Given the description of an element on the screen output the (x, y) to click on. 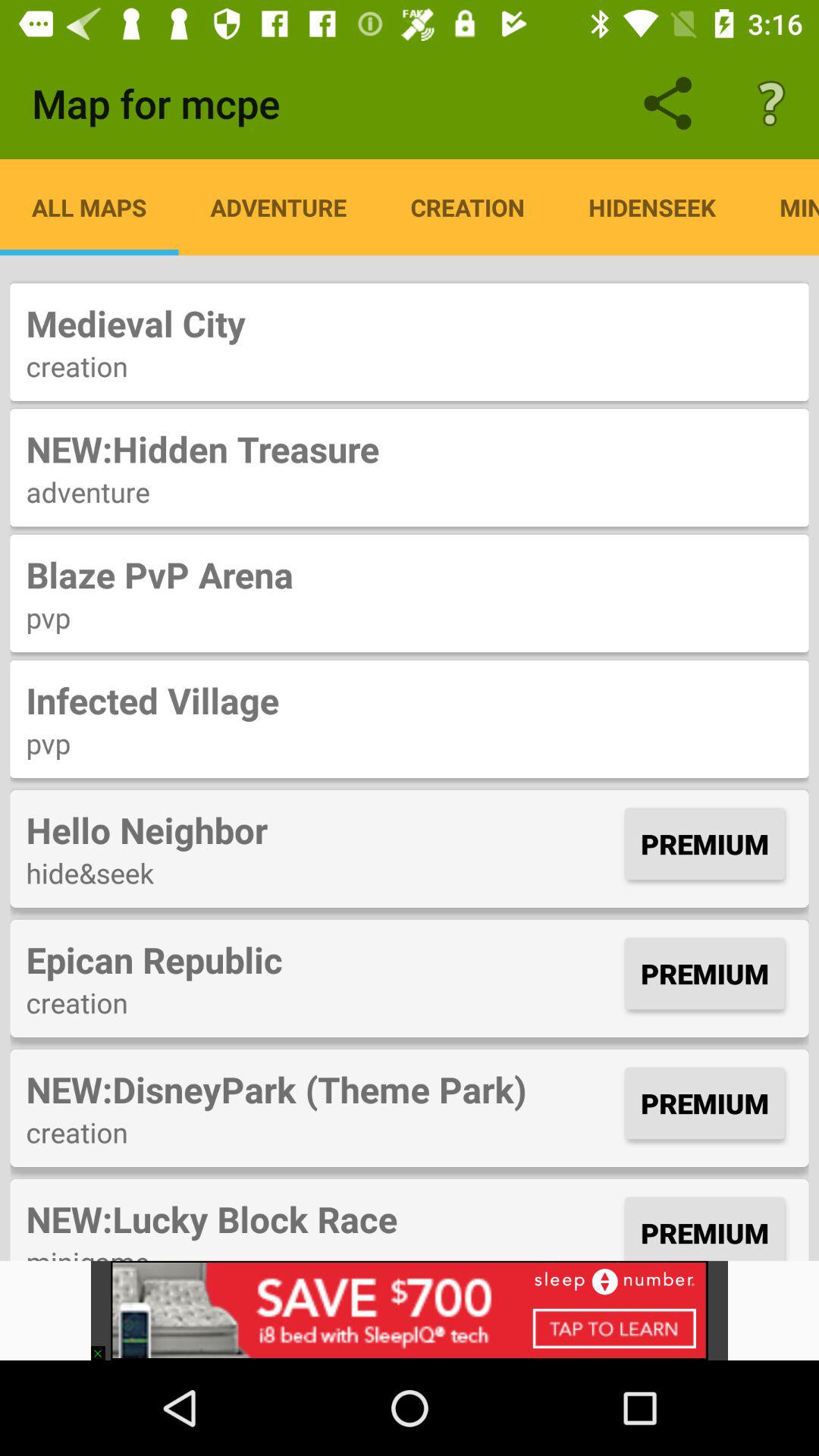
scroll to all maps icon (89, 207)
